Given the description of an element on the screen output the (x, y) to click on. 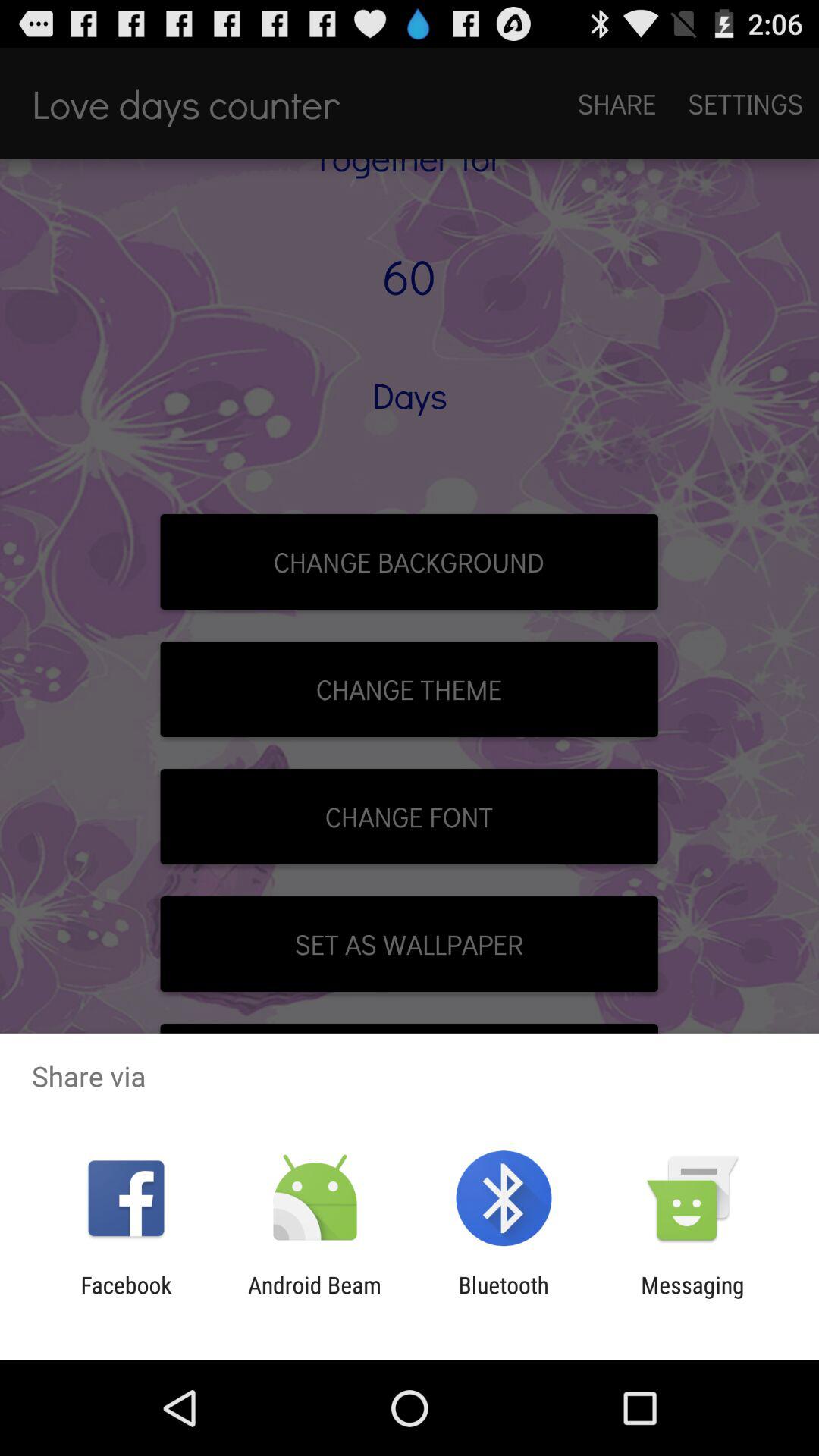
open messaging icon (692, 1298)
